Given the description of an element on the screen output the (x, y) to click on. 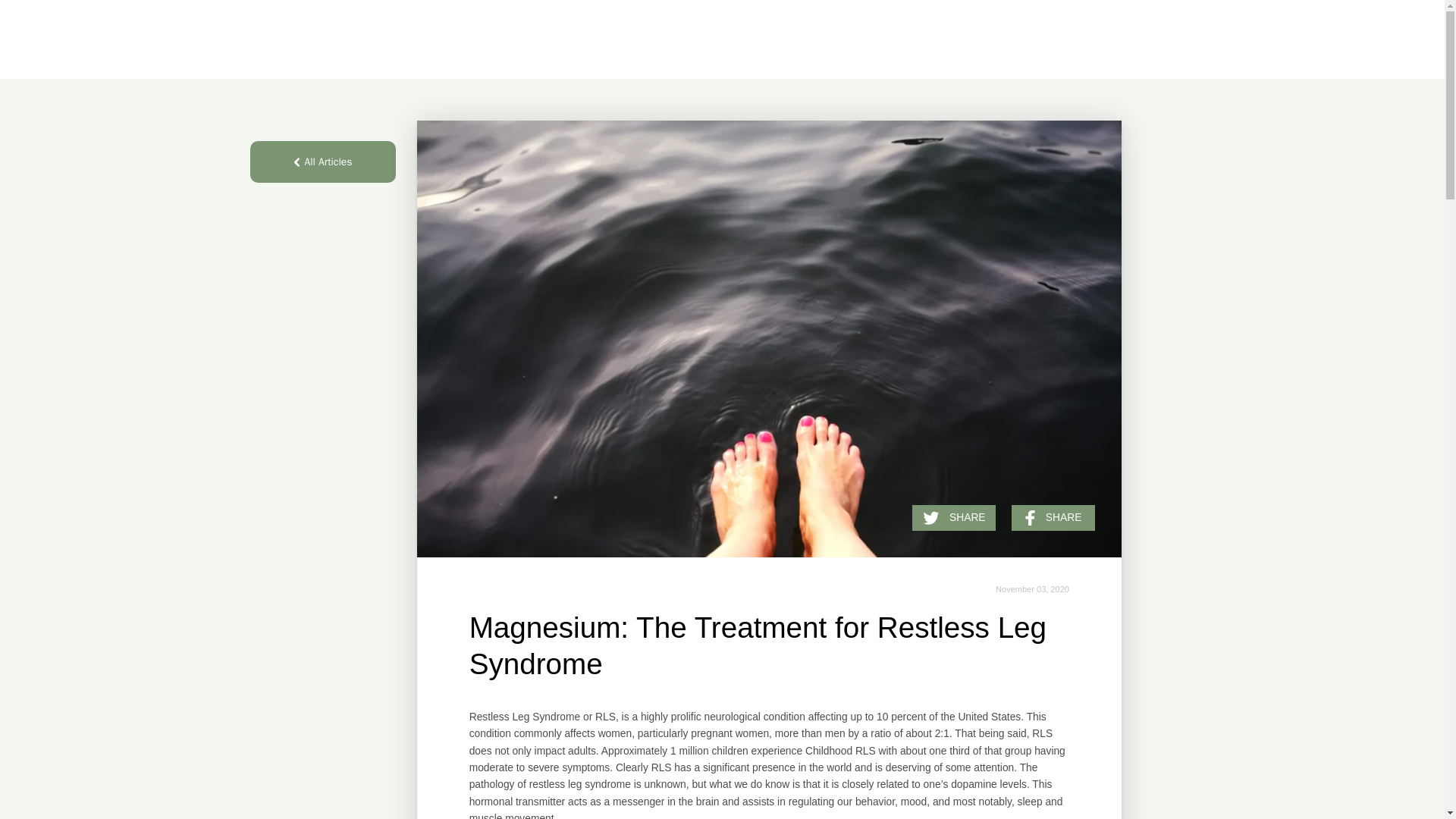
SHARE (953, 517)
SHARE (1052, 517)
